Given the description of an element on the screen output the (x, y) to click on. 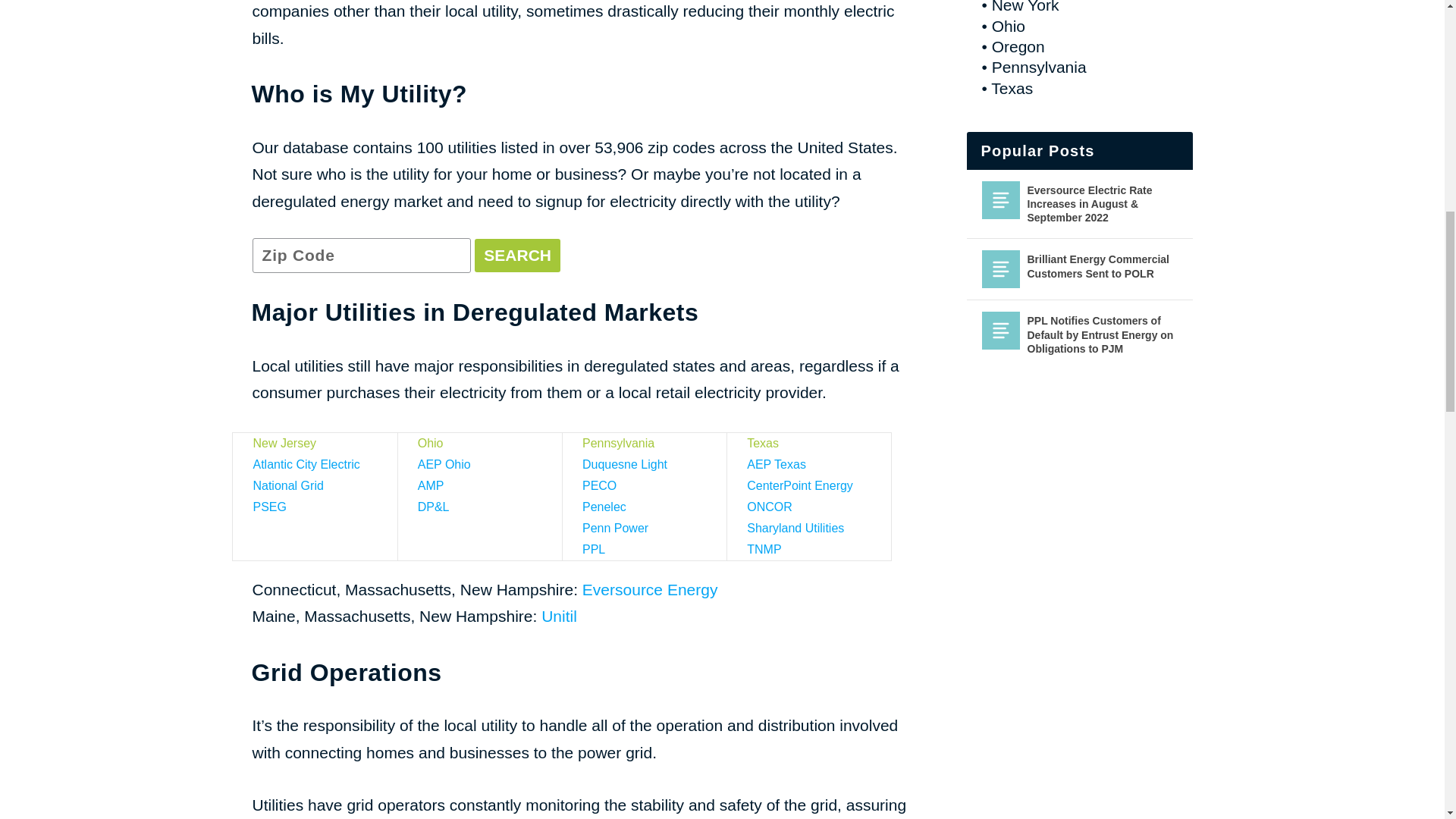
Brilliant Energy Commercial Customers Sent to POLR (1000, 269)
